Given the description of an element on the screen output the (x, y) to click on. 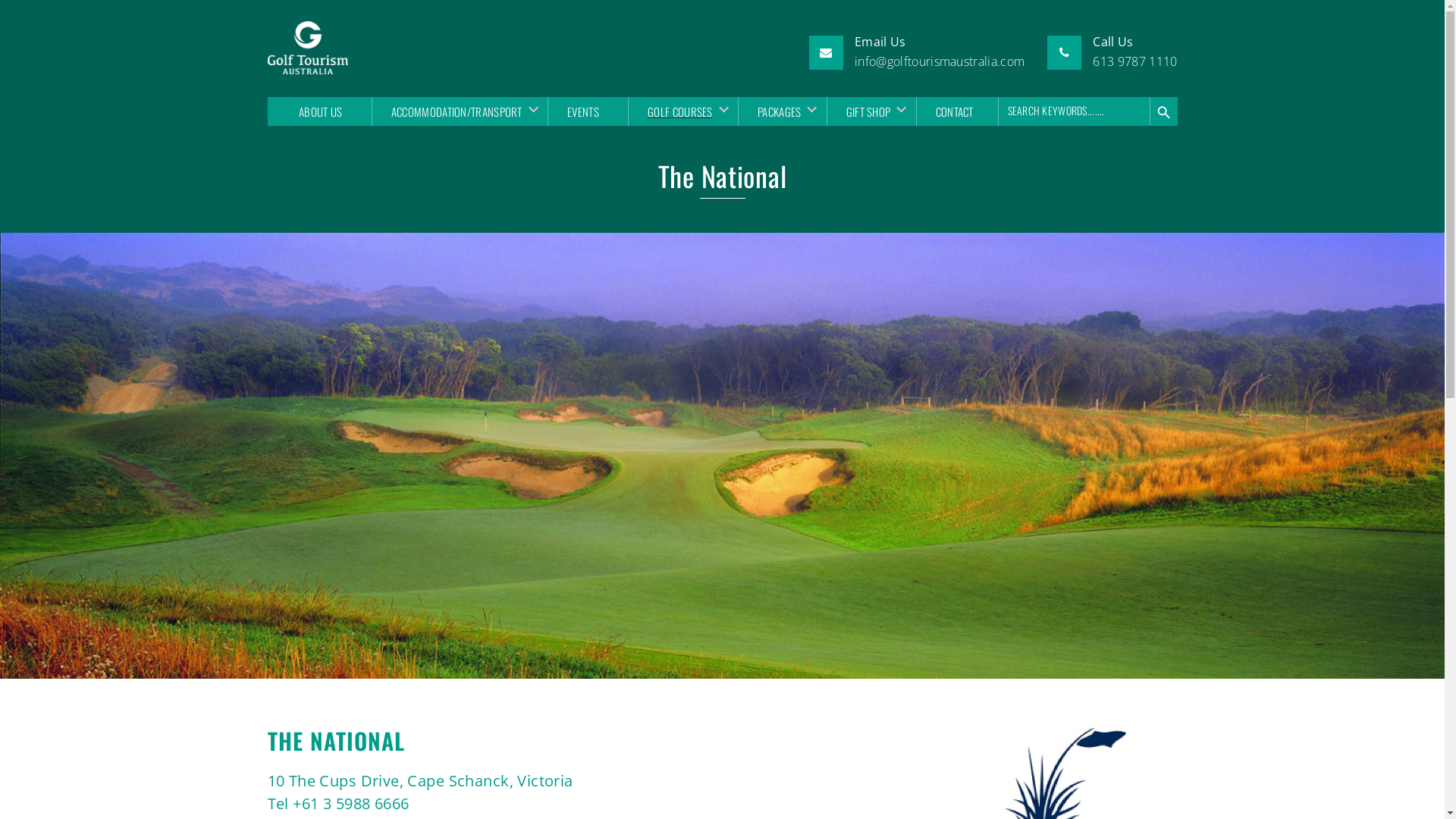
GIFT SHOP Element type: text (866, 111)
PACKAGES Element type: text (776, 111)
Call Us
613 9787 1110 Element type: text (1134, 51)
Email Us
info@golftourismaustralia.com Element type: text (939, 51)
GOLF COURSES Element type: text (677, 111)
ABOUT US Element type: text (319, 111)
ACCOMMODATION/TRANSPORT Element type: text (454, 111)
EVENTS Element type: text (582, 111)
CONTACT Element type: text (954, 111)
